Given the description of an element on the screen output the (x, y) to click on. 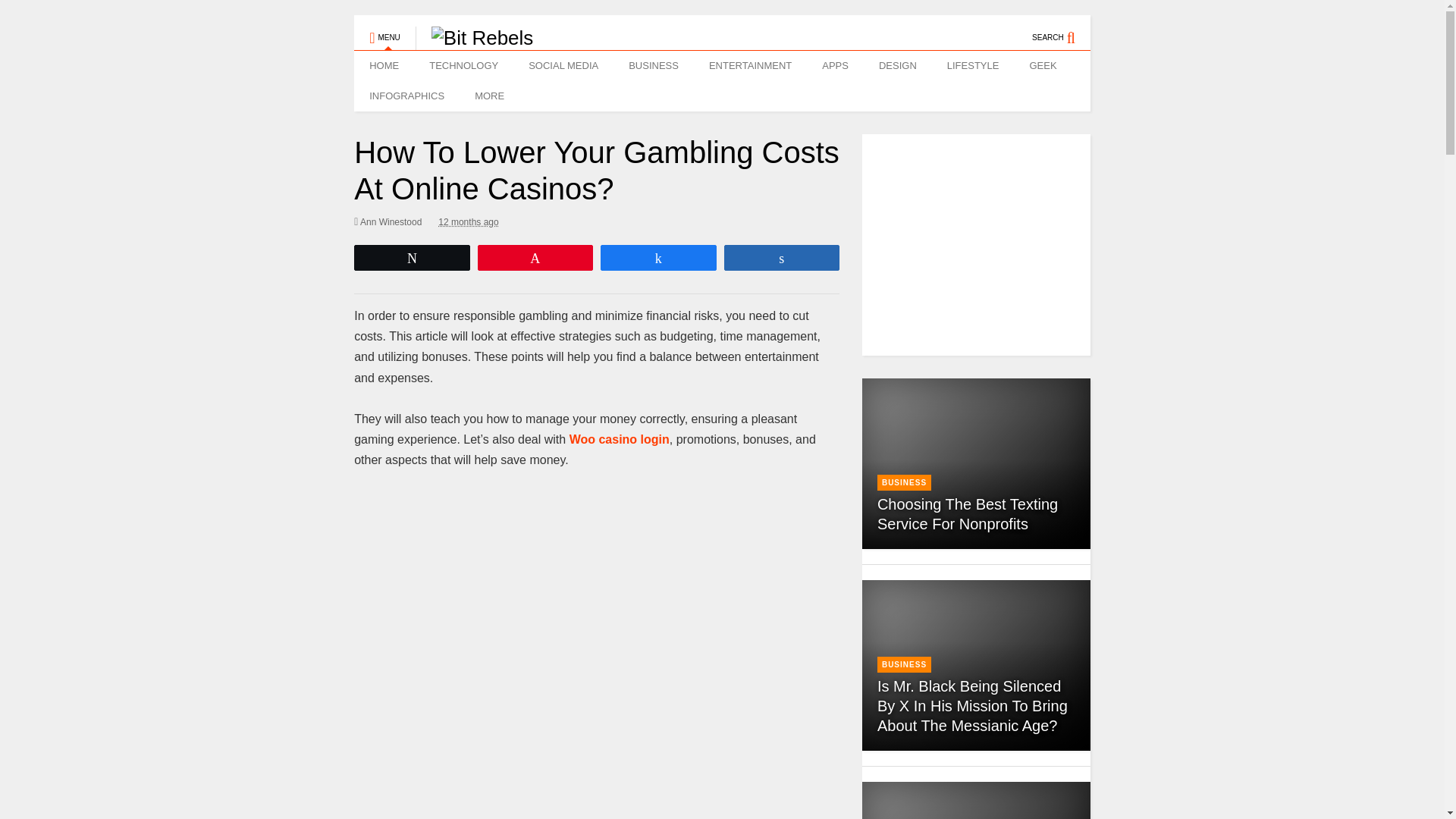
TECHNOLOGY (463, 65)
BUSINESS (653, 65)
Bit Rebels (474, 37)
HOME (383, 65)
LIFESTYLE (972, 65)
APPS (834, 65)
Ann Winestood (387, 222)
ENTERTAINMENT (750, 65)
MORE (493, 96)
Choosing The Best Texting Service For Nonprofits (967, 514)
Woo casino login (619, 439)
Ann Winestood (387, 222)
12 months ago (467, 222)
INFOGRAPHICS (406, 96)
